Given the description of an element on the screen output the (x, y) to click on. 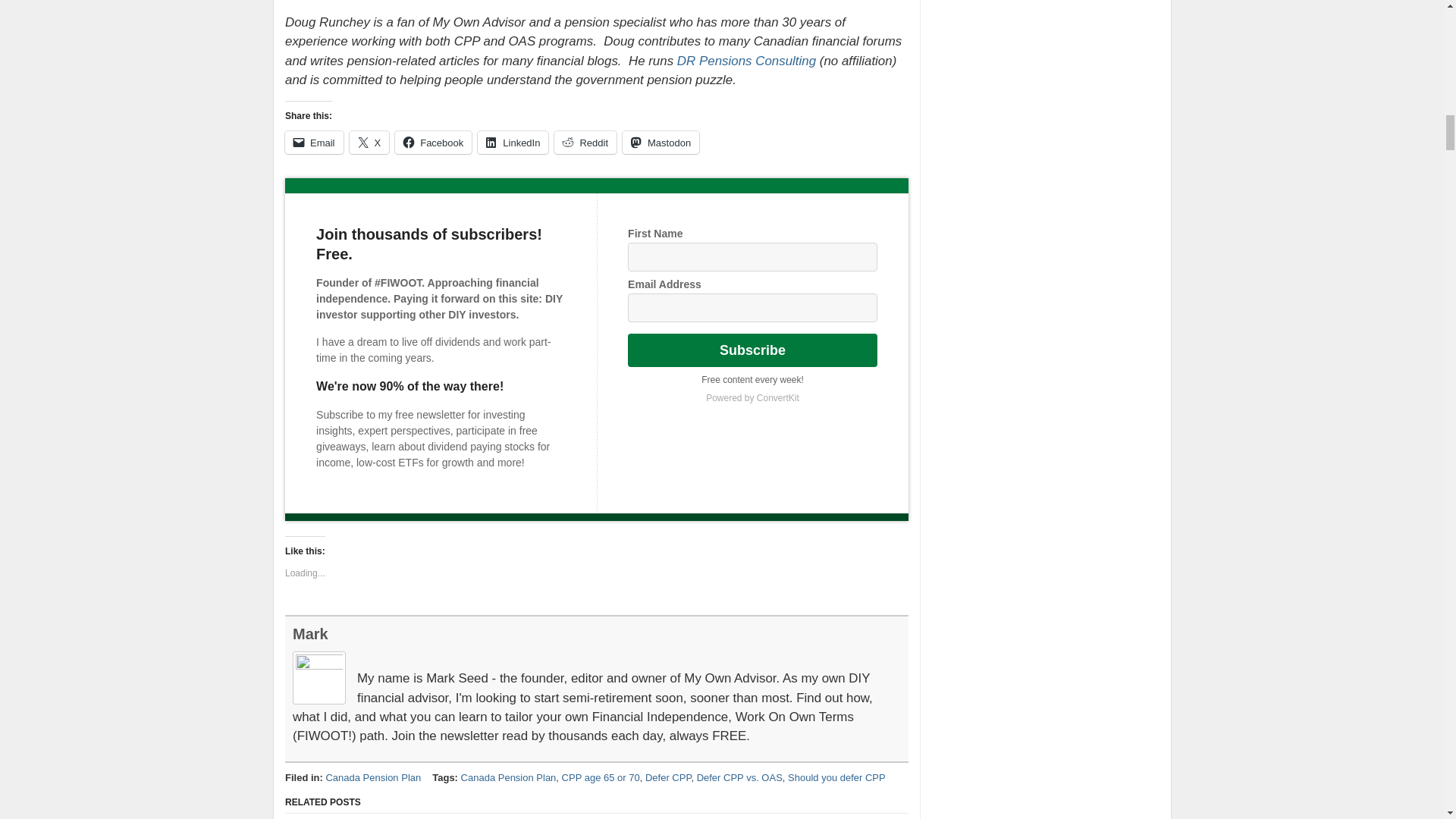
Click to share on X (369, 142)
Click to share on Reddit (584, 142)
Click to email a link to a friend (314, 142)
All posts by Mark (310, 633)
Click to share on LinkedIn (512, 142)
Click to share on Mastodon (660, 142)
Click to share on Facebook (432, 142)
